Given the description of an element on the screen output the (x, y) to click on. 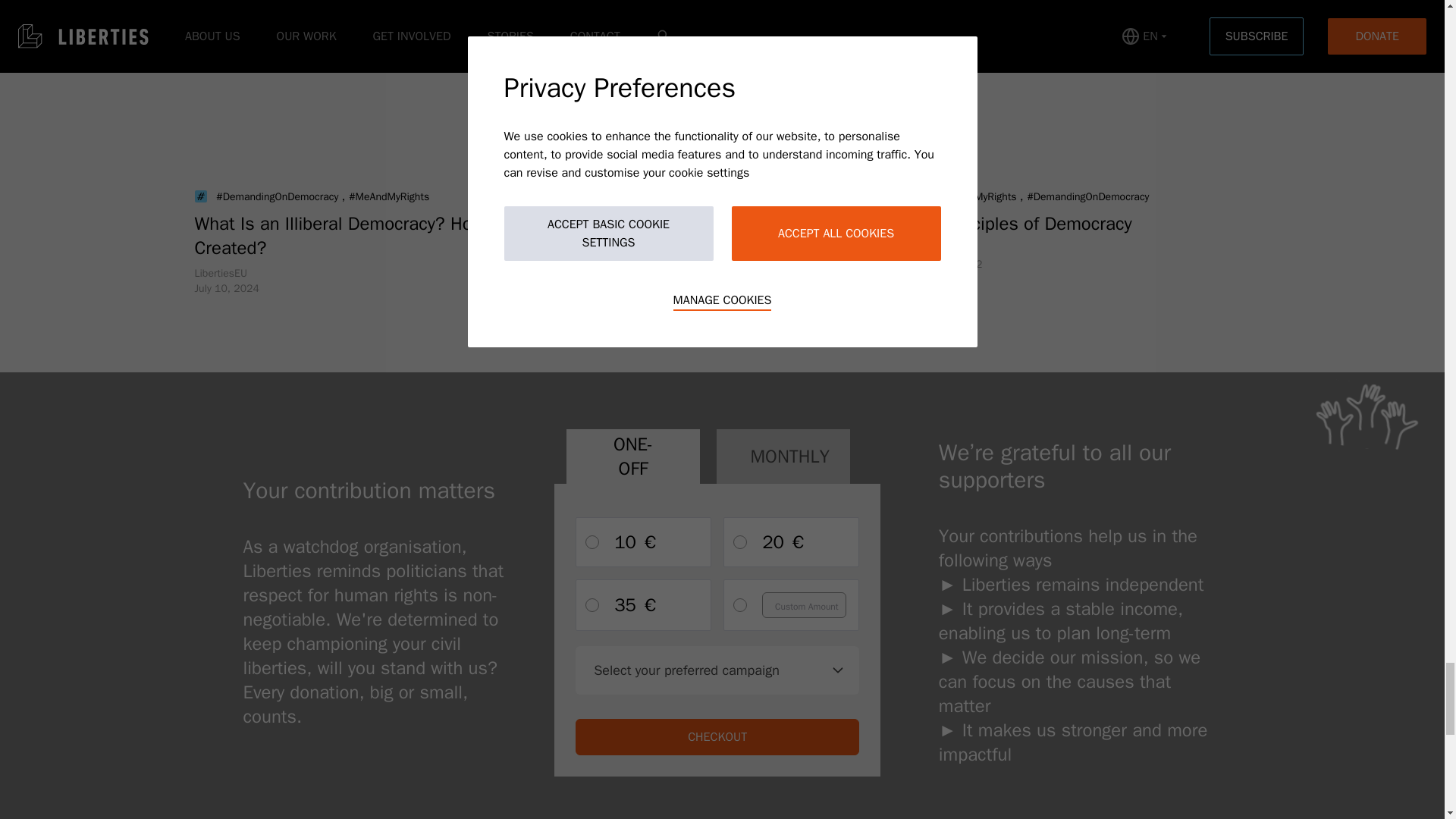
on (591, 604)
on (739, 541)
on (739, 604)
on (591, 541)
